Given the description of an element on the screen output the (x, y) to click on. 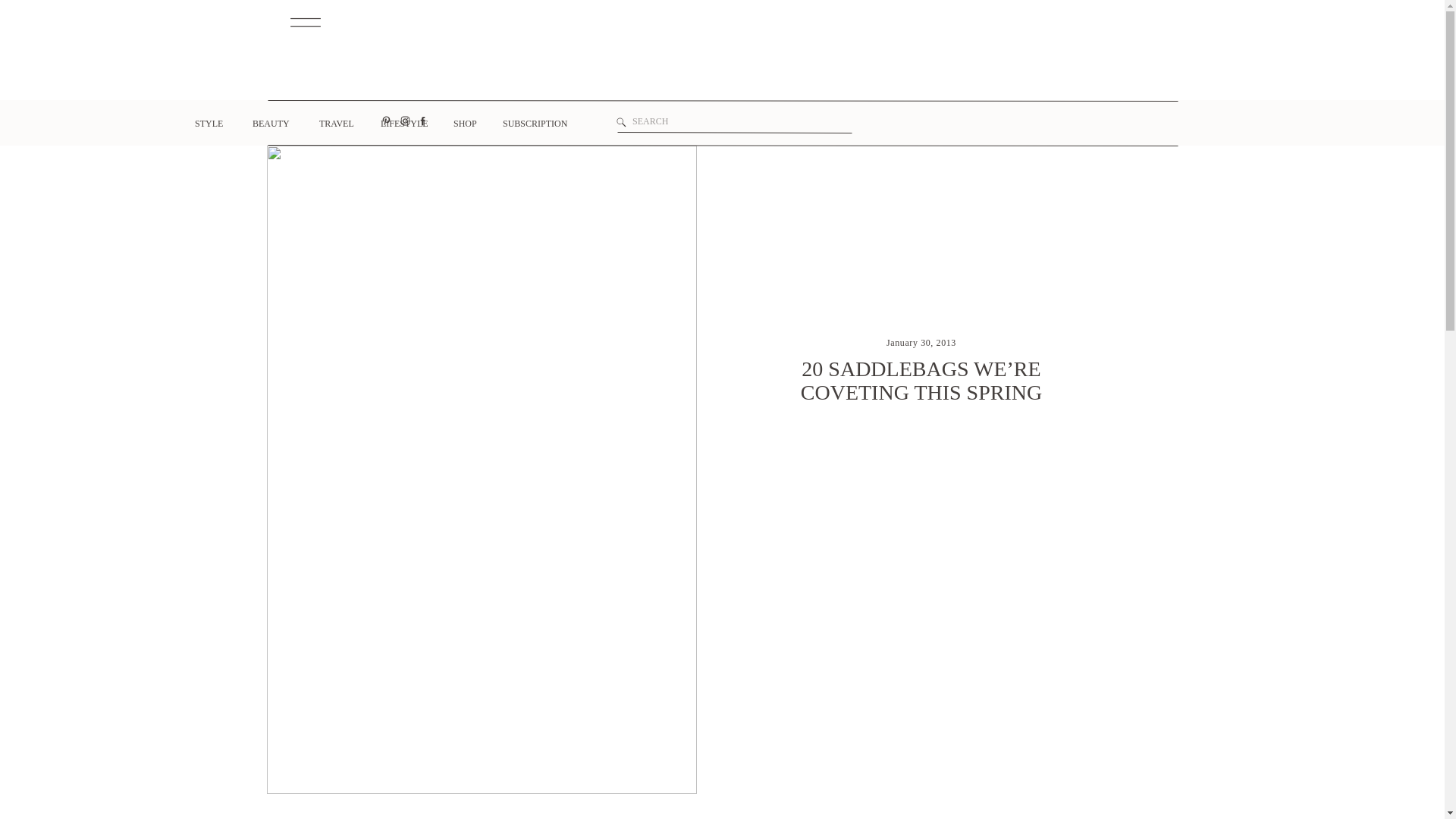
BEAUTY (268, 127)
STYLE (206, 124)
SUBSCRIPTION (533, 127)
TRAVEL (332, 127)
SHOP (464, 127)
LIFESTYLE (399, 127)
